Given the description of an element on the screen output the (x, y) to click on. 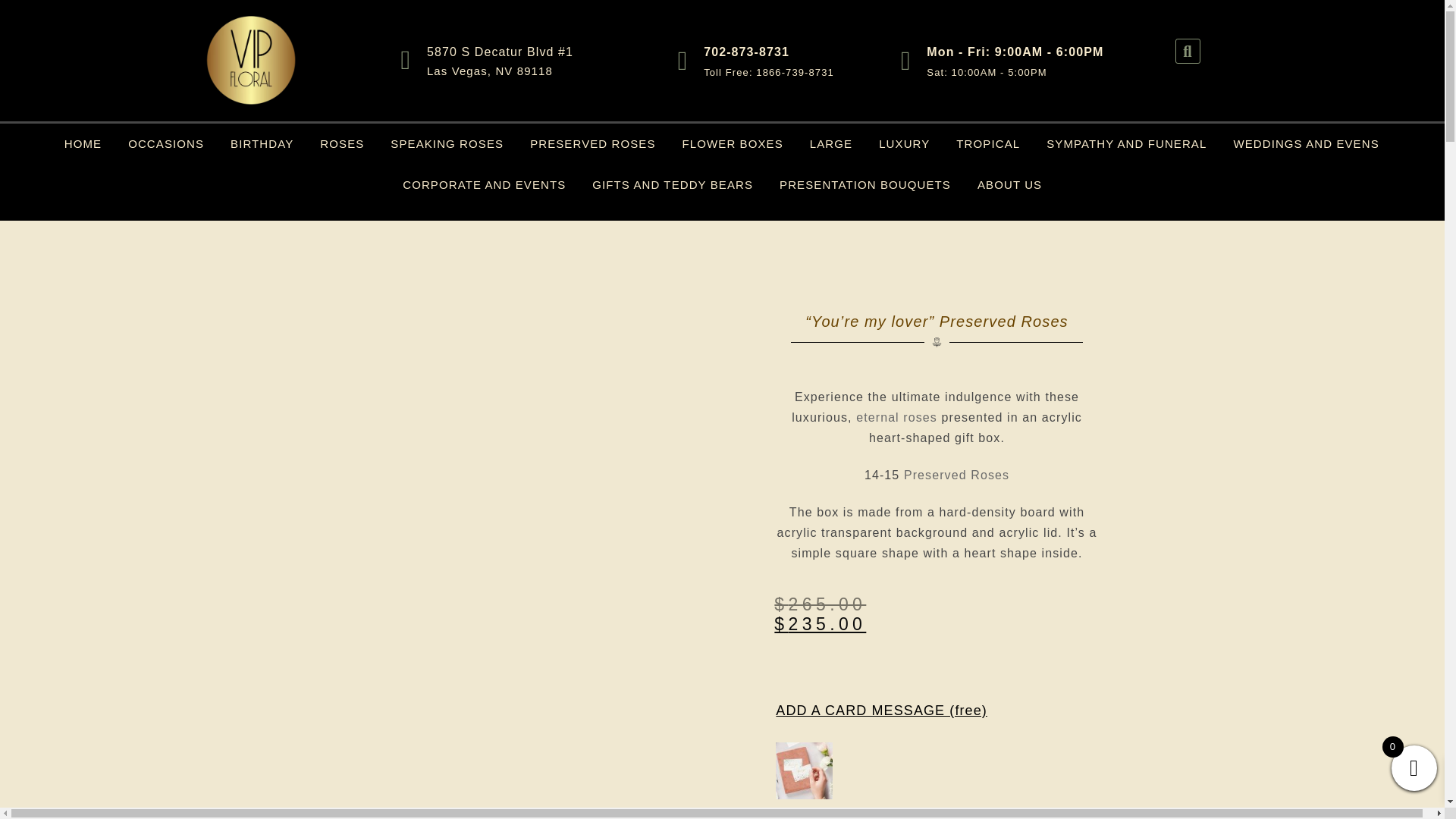
LUXURY (904, 143)
ROSES (341, 143)
HOME (82, 143)
LARGE (830, 143)
FLOWER BOXES (731, 143)
BIRTHDAY (261, 143)
SPEAKING ROSES (446, 143)
WEDDINGS AND EVENS (1305, 143)
TROPICAL (987, 143)
SYMPATHY AND FUNERAL (1125, 143)
PRESERVED ROSES (592, 143)
OCCASIONS (165, 143)
